Given the description of an element on the screen output the (x, y) to click on. 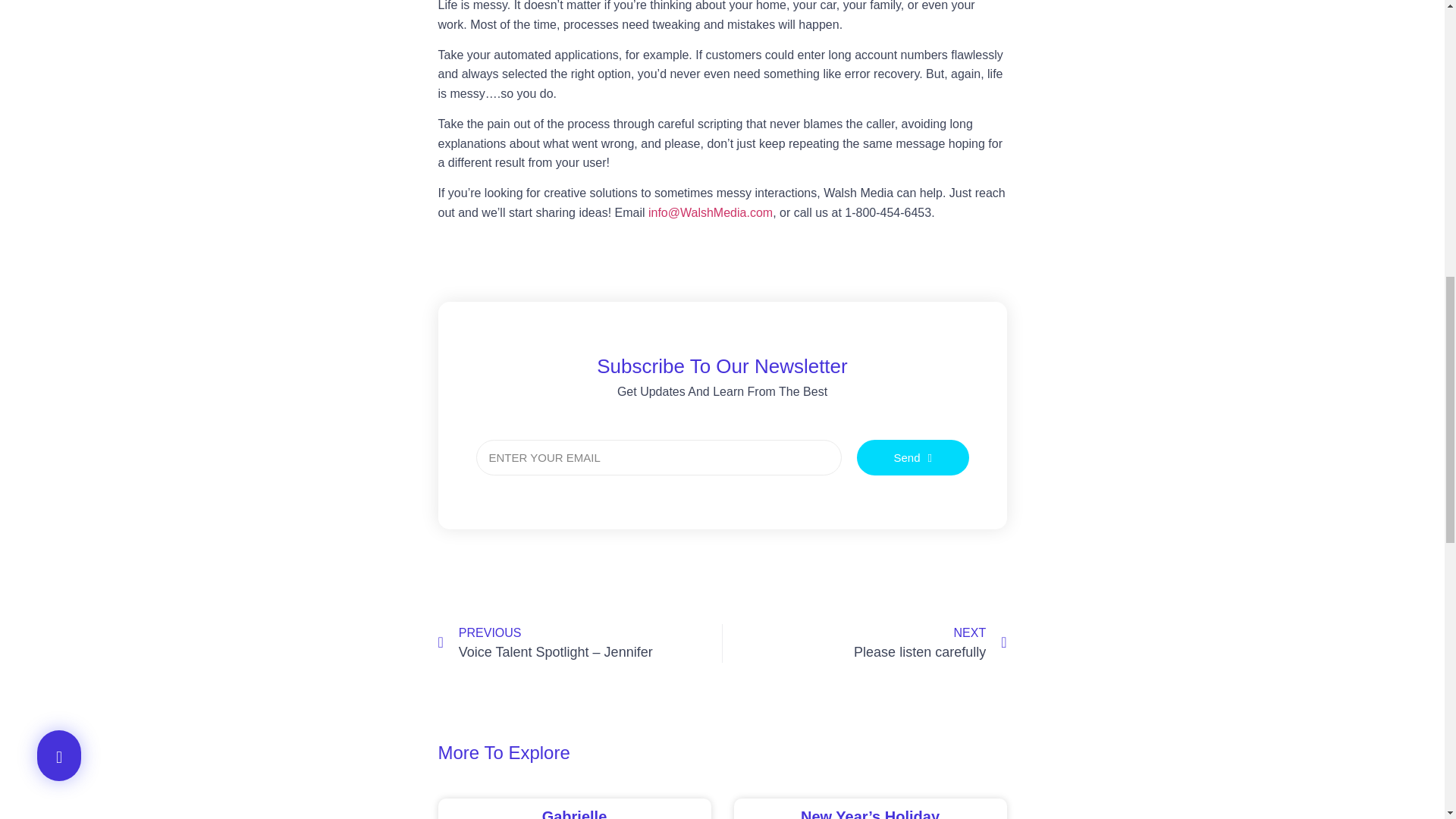
Send (913, 457)
Gabrielle (864, 643)
